Given the description of an element on the screen output the (x, y) to click on. 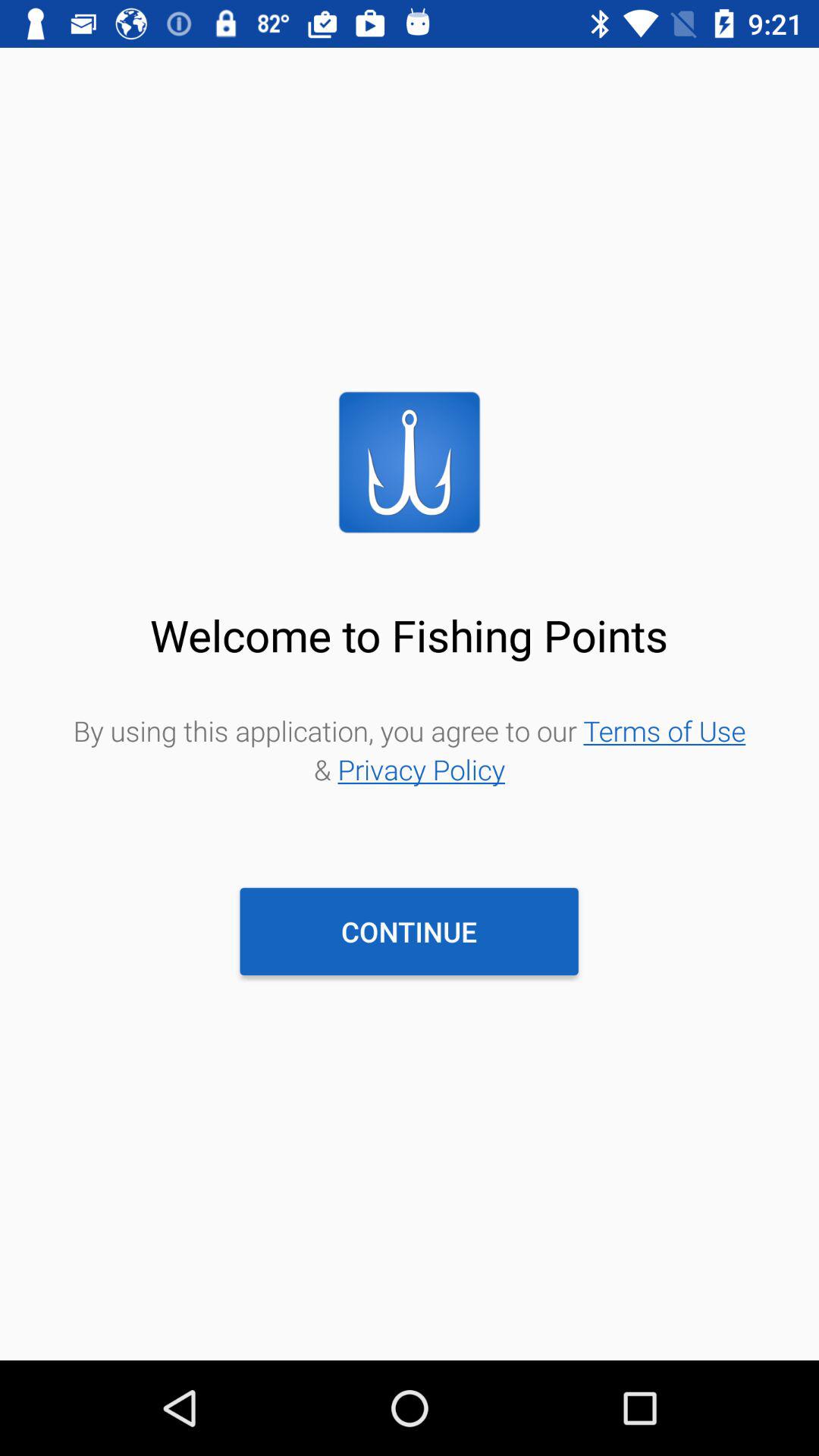
open item above the continue item (409, 750)
